Given the description of an element on the screen output the (x, y) to click on. 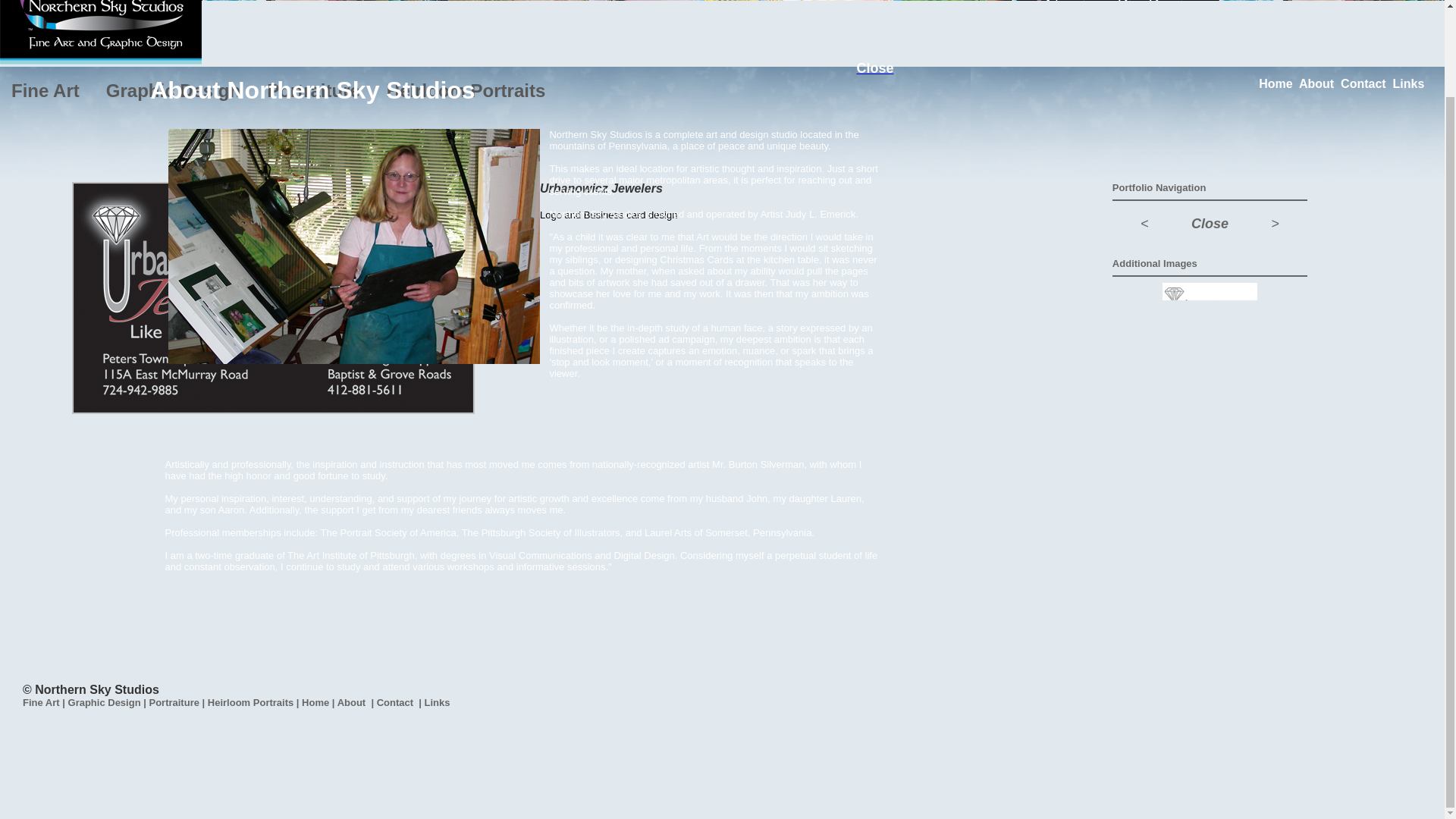
Links (1409, 83)
Heirloom Portraits (465, 90)
Portraiture (312, 90)
Contact (1363, 83)
Fine Art (45, 90)
Home (315, 701)
Home (1275, 83)
Heirloom Portraits (251, 701)
Portraiture (173, 701)
Contact (395, 701)
Fine Art (41, 701)
Close (874, 68)
Graphic Design (104, 701)
Click to enlarge (272, 297)
Graphic Design (173, 90)
